Given the description of an element on the screen output the (x, y) to click on. 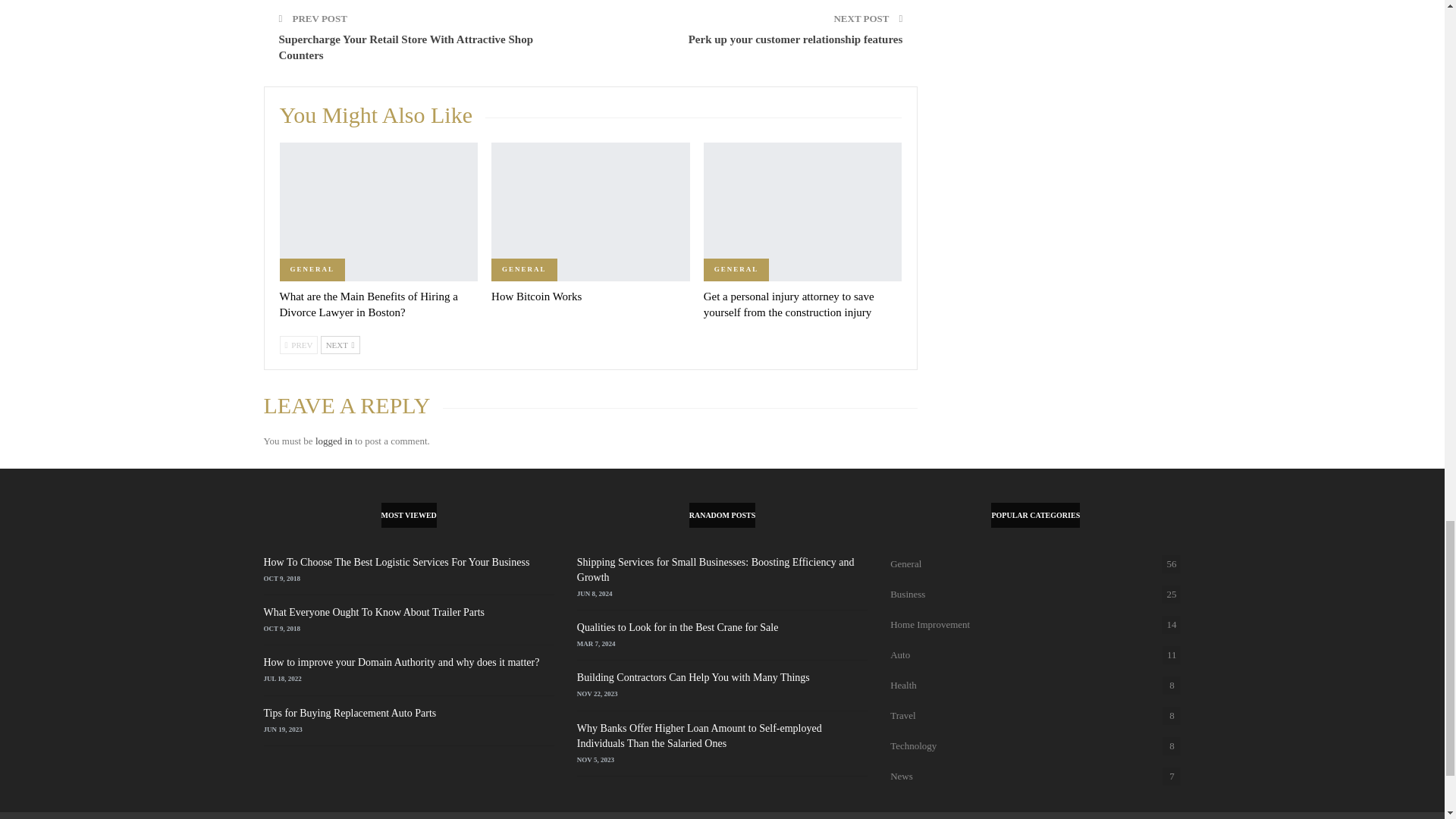
GENERAL (524, 269)
Previous (298, 344)
NEXT (339, 344)
PREV (298, 344)
GENERAL (312, 269)
Perk up your customer relationship features (795, 39)
Supercharge Your Retail Store With Attractive Shop Counters (406, 47)
How Bitcoin Works (536, 296)
How Bitcoin Works (536, 296)
GENERAL (736, 269)
